Given the description of an element on the screen output the (x, y) to click on. 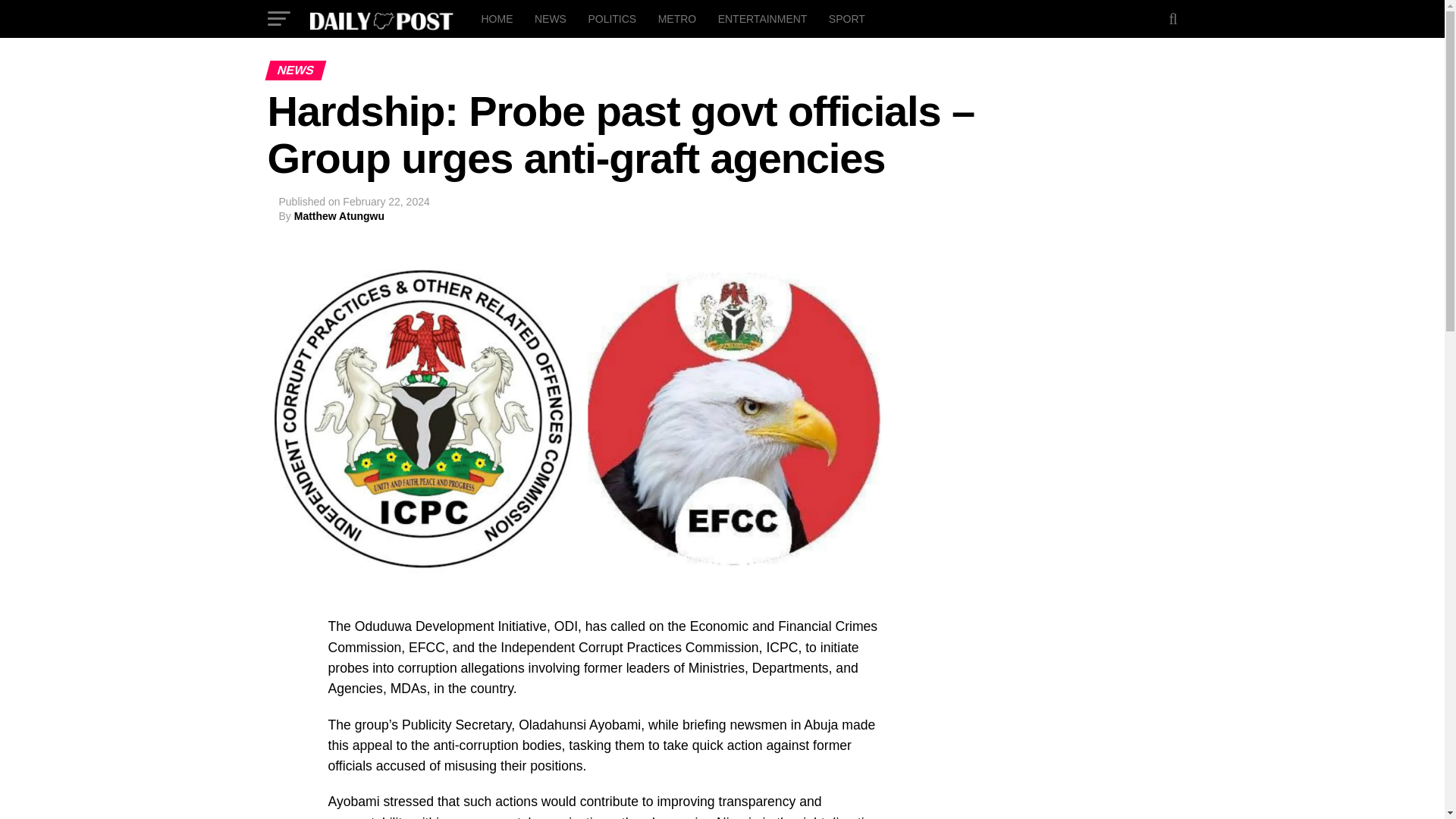
NEWS (550, 18)
Matthew Atungwu (339, 215)
ENTERTAINMENT (762, 18)
HOME (496, 18)
POLITICS (611, 18)
SPORT (847, 18)
Posts by Matthew Atungwu (339, 215)
METRO (677, 18)
